Given the description of an element on the screen output the (x, y) to click on. 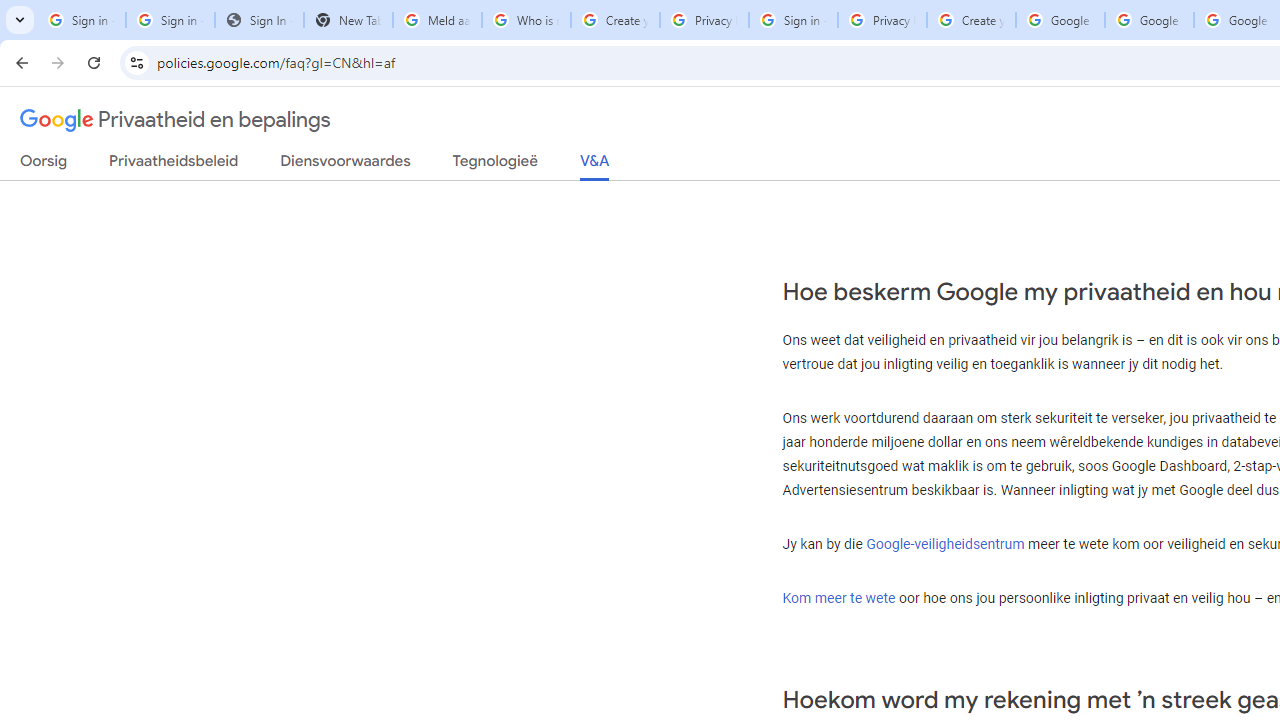
Who is my administrator? - Google Account Help (526, 20)
V&A (594, 166)
Sign In - USA TODAY (259, 20)
Privaatheidsbeleid (173, 165)
Diensvoorwaardes (345, 165)
Google-veiligheidsentrum (945, 543)
Privaatheid en bepalings (175, 120)
